Given the description of an element on the screen output the (x, y) to click on. 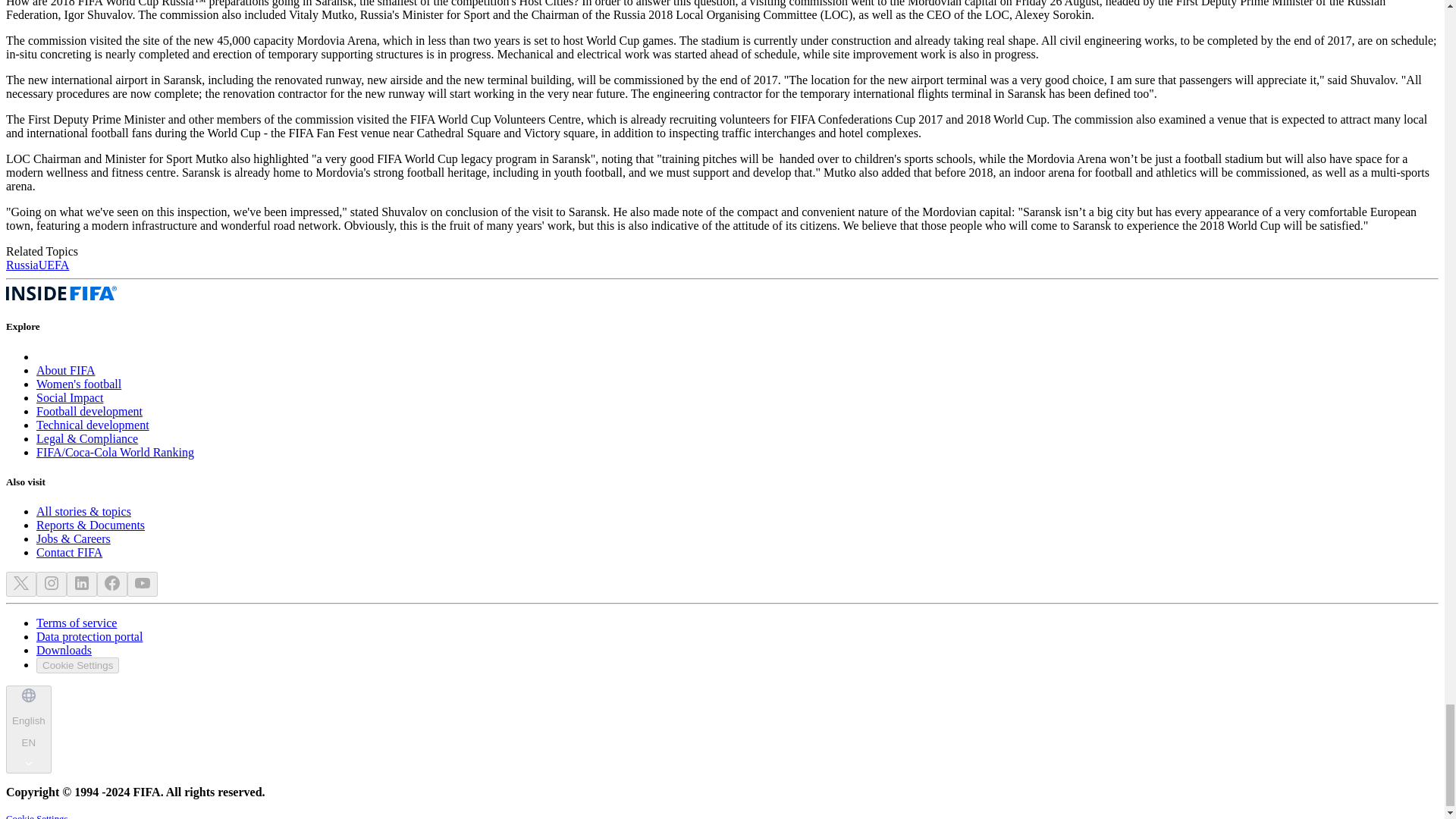
Social Impact (69, 397)
Russia (22, 264)
UEFA (54, 264)
Downloads (63, 649)
Women's football (78, 383)
Technical development (92, 424)
Terms of service (76, 622)
Cookie Settings (77, 665)
About FIFA (66, 369)
Contact FIFA (68, 552)
